Given the description of an element on the screen output the (x, y) to click on. 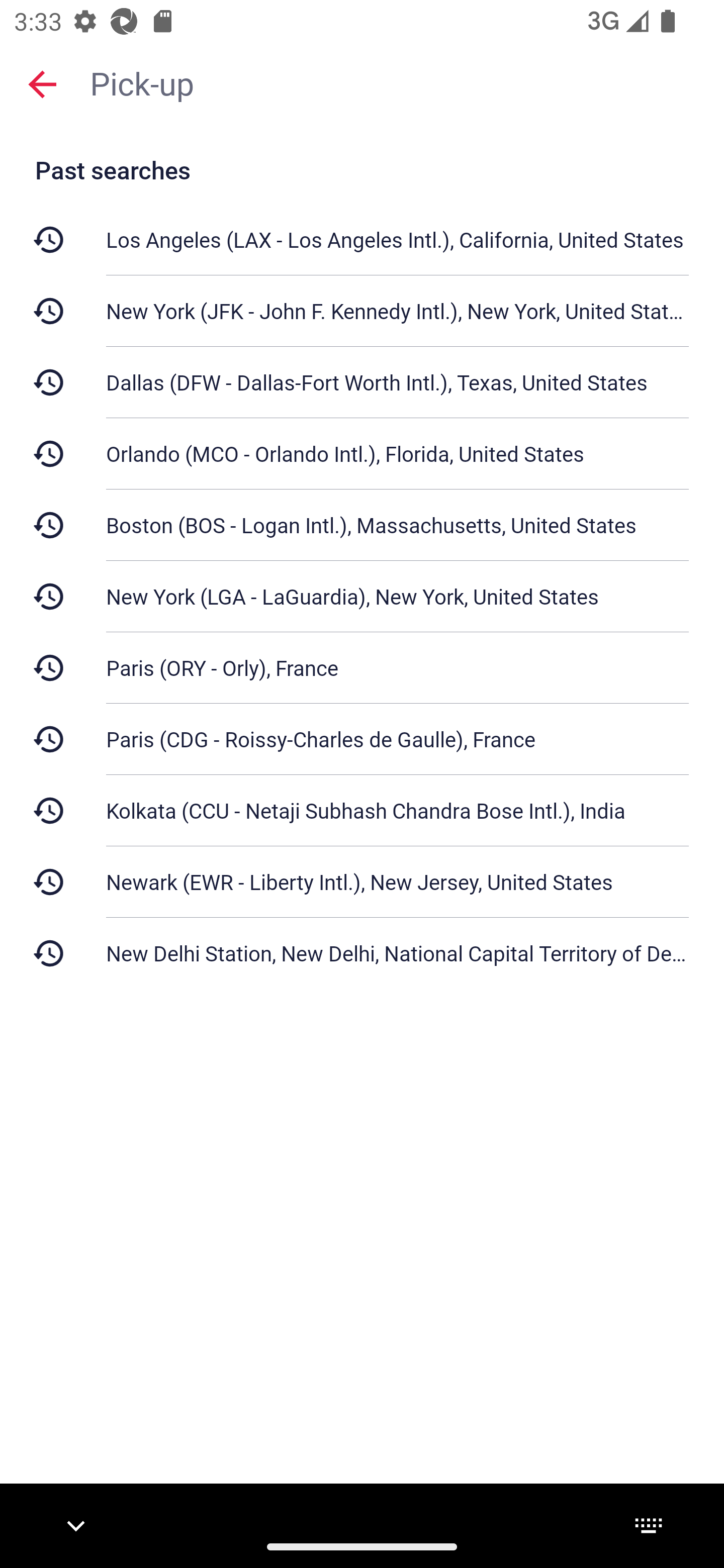
Pick-up,  (397, 82)
Close search screen (41, 83)
